Given the description of an element on the screen output the (x, y) to click on. 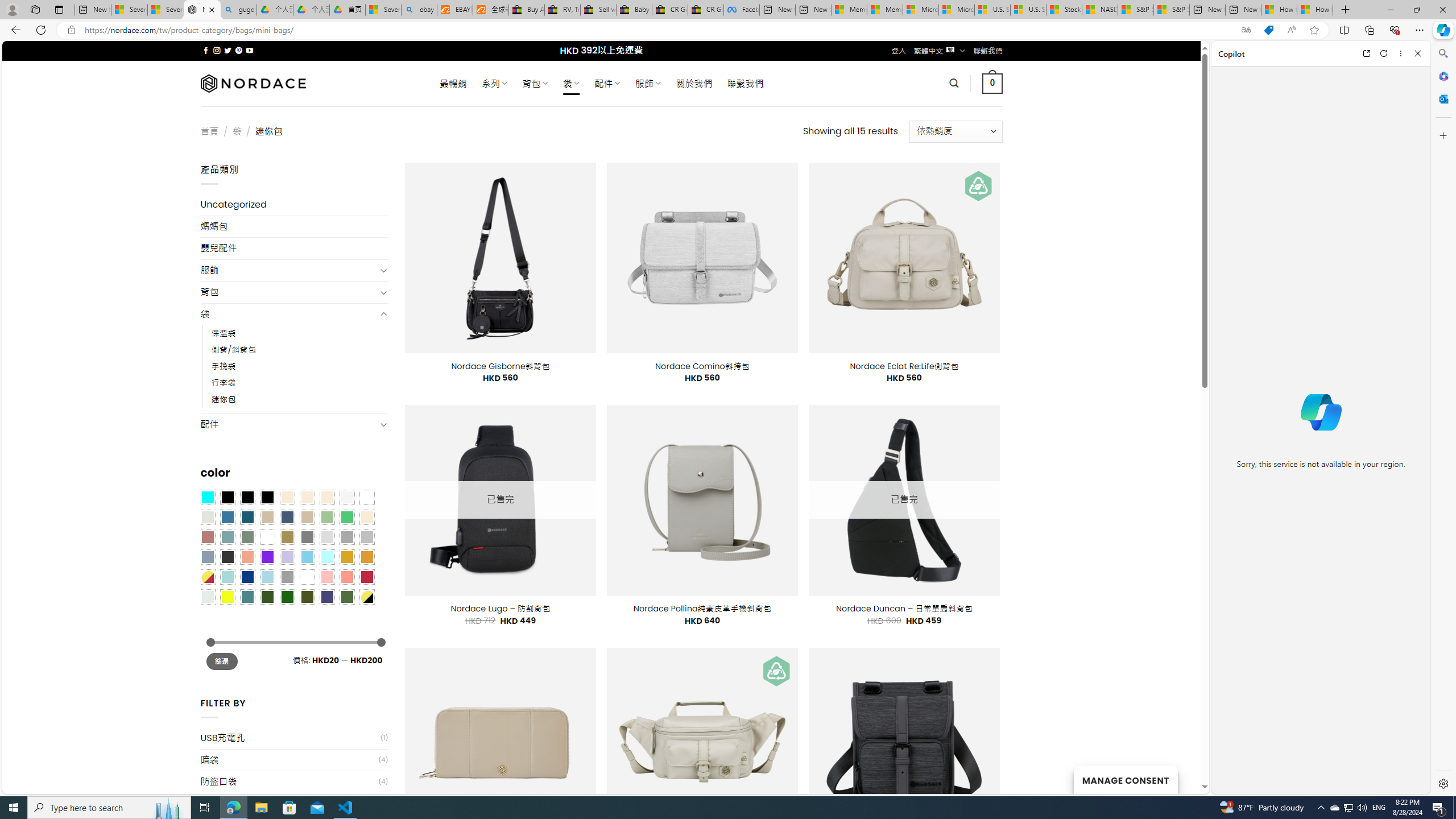
  0   (992, 83)
MANAGE CONSENT (1125, 779)
